Given the description of an element on the screen output the (x, y) to click on. 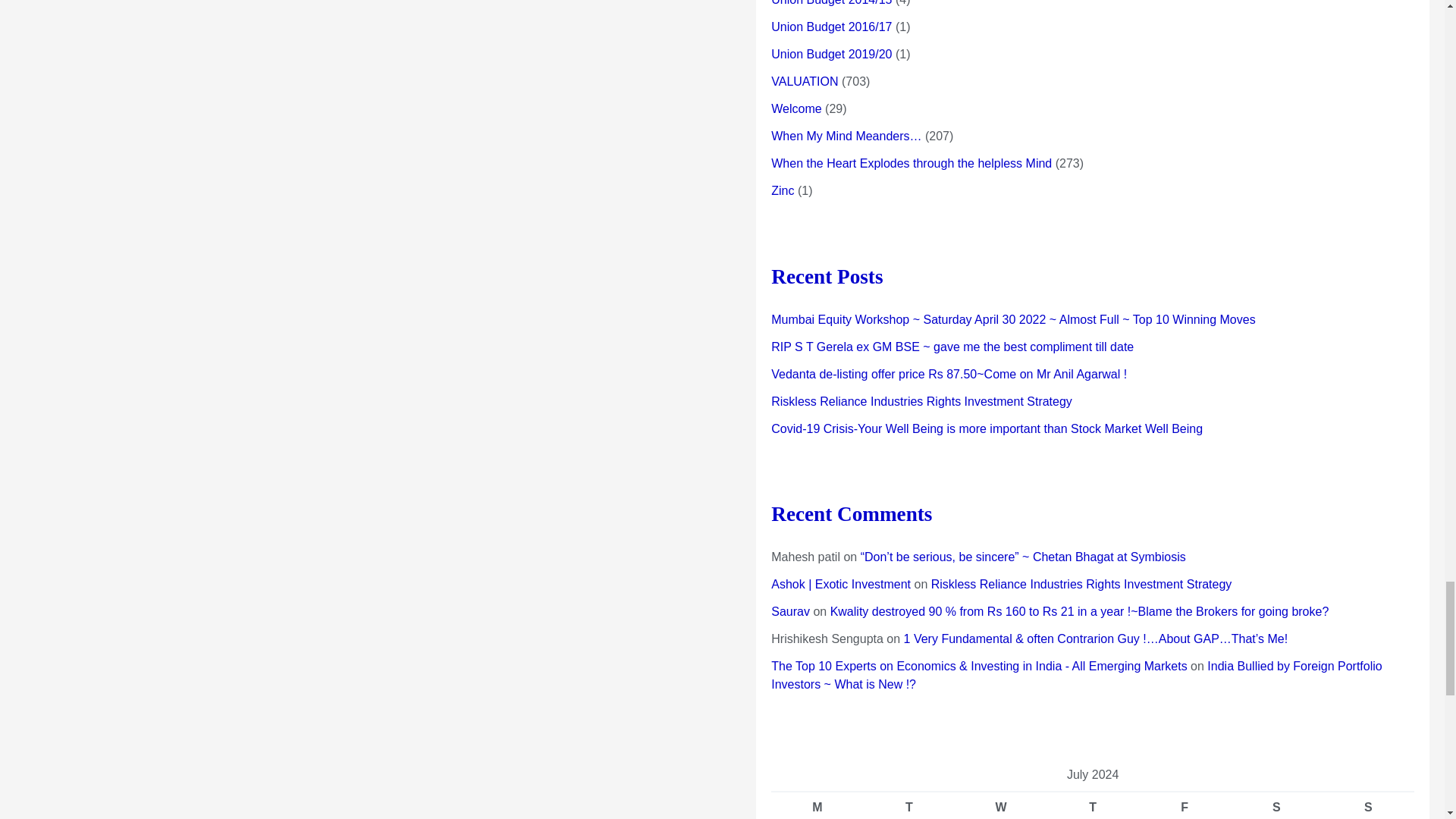
Thursday (1092, 805)
Monday (817, 805)
Tuesday (909, 805)
Sunday (1367, 805)
Saturday (1276, 805)
Friday (1184, 805)
Wednesday (1000, 805)
